Given the description of an element on the screen output the (x, y) to click on. 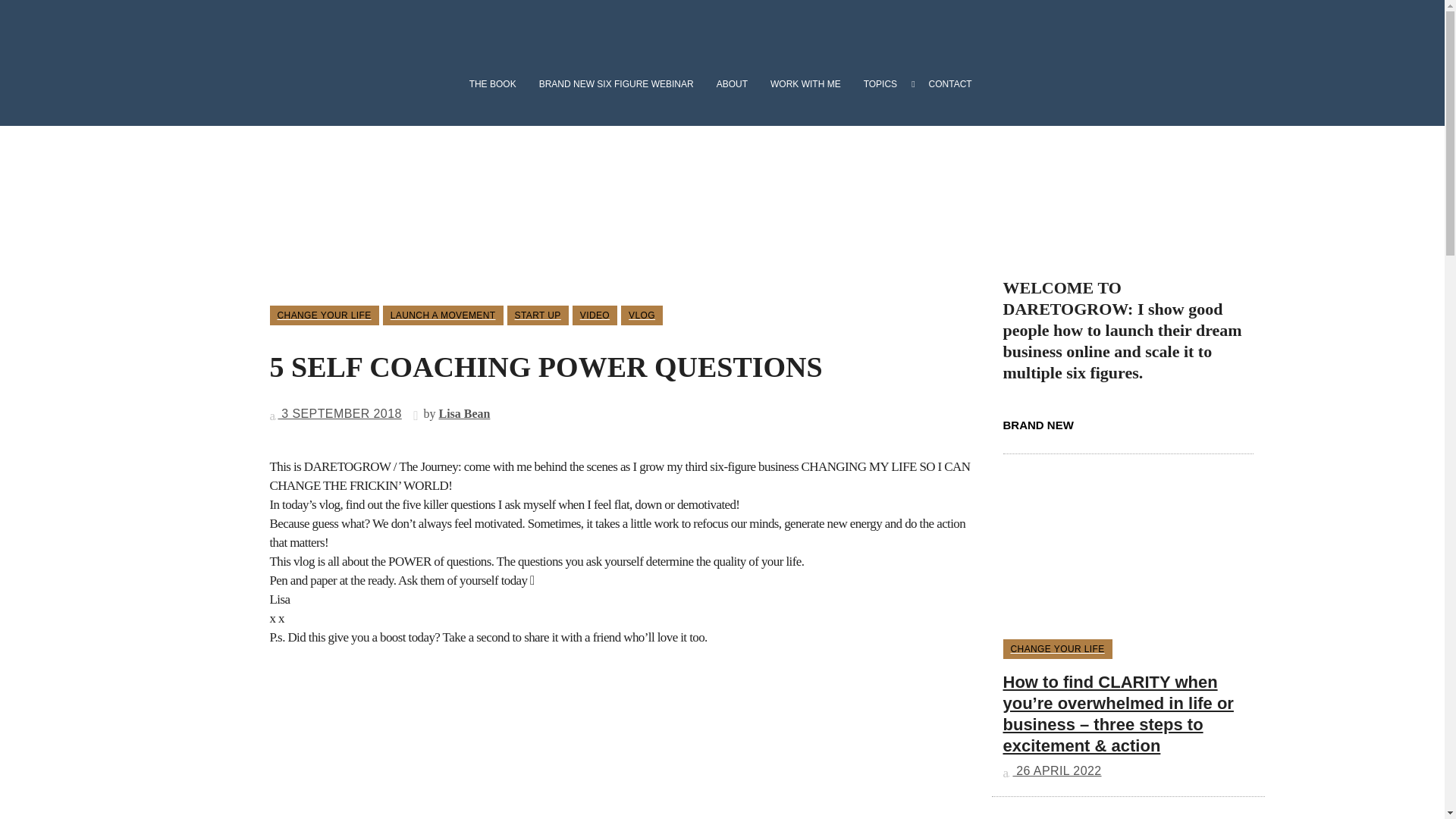
WORK WITH ME (804, 84)
BRAND NEW SIX FIGURE WEBINAR (615, 84)
CONTACT (946, 84)
